Given the description of an element on the screen output the (x, y) to click on. 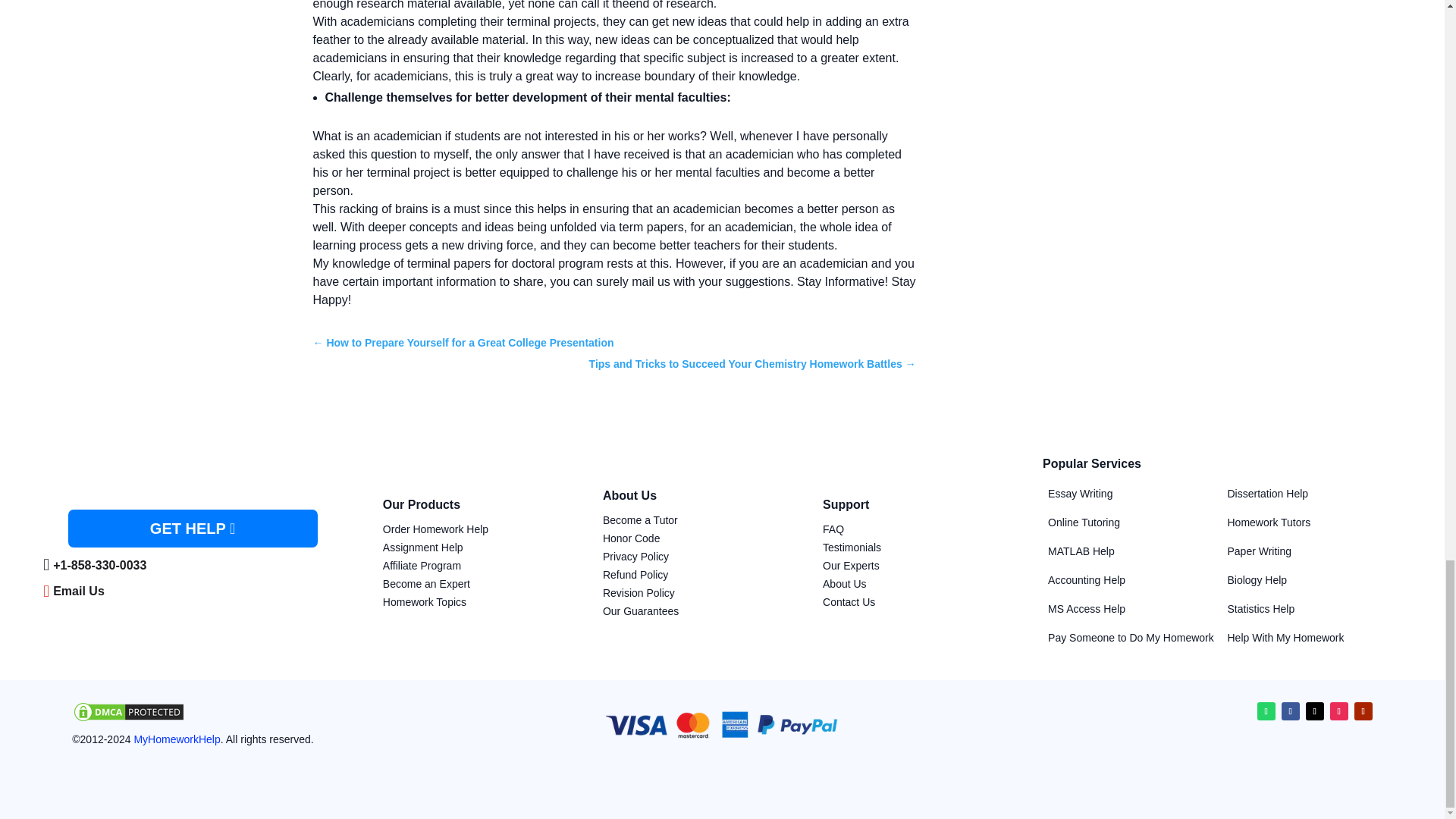
Follow on X (1314, 710)
Follow on Youtube (1363, 710)
Follow on Facebook (1290, 710)
Follow on WhatsApp (1266, 710)
FAQ (833, 529)
DMCA.com Protection Status (128, 718)
Follow on Instagram (1339, 710)
